Given the description of an element on the screen output the (x, y) to click on. 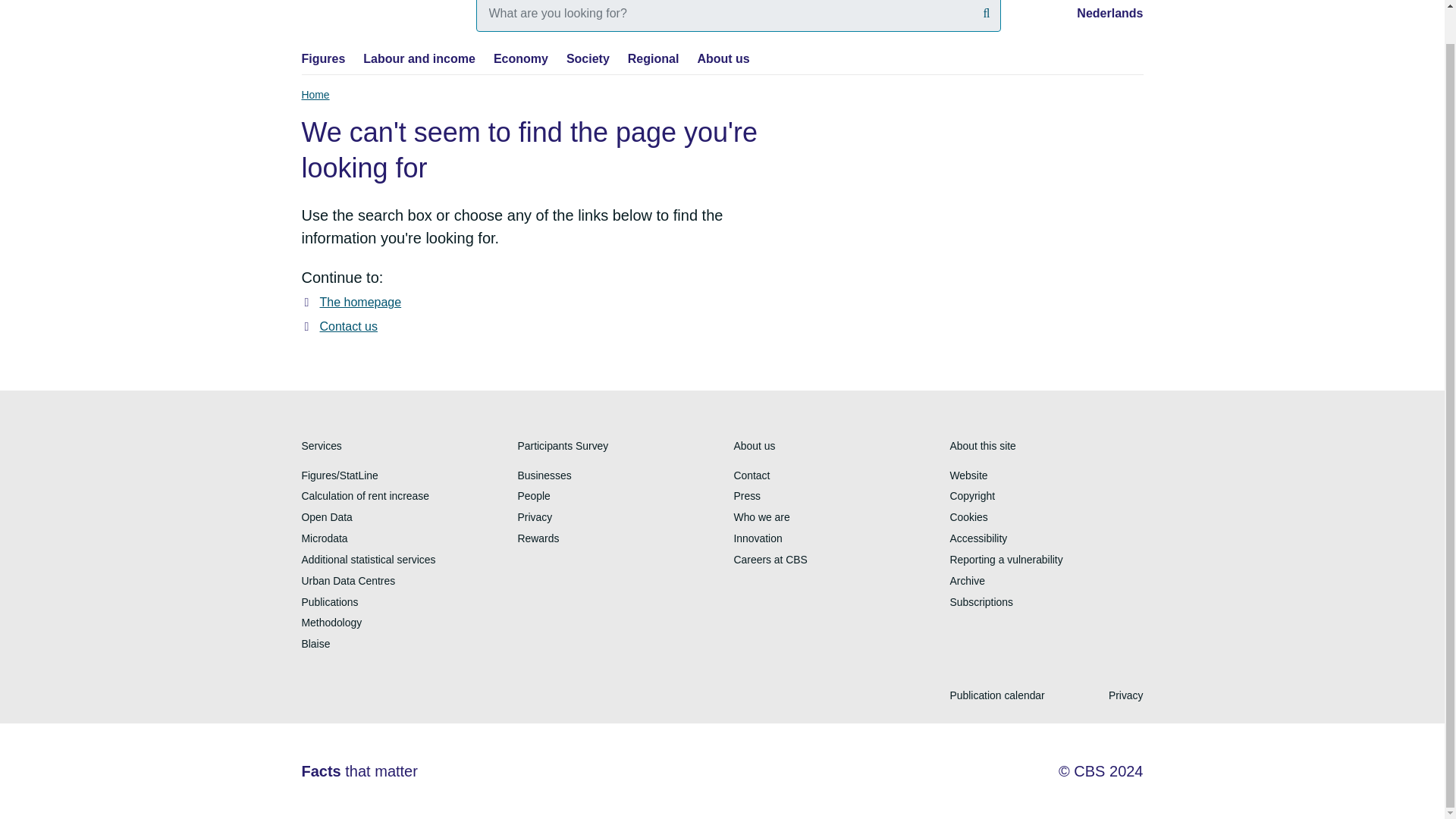
Nederlands (1109, 12)
Home (315, 94)
YouTube (347, 699)
RSS (382, 699)
Figures (323, 58)
About us (723, 58)
CBS home (373, 13)
Regional (653, 58)
Labour and income (419, 58)
Society (588, 58)
